Given the description of an element on the screen output the (x, y) to click on. 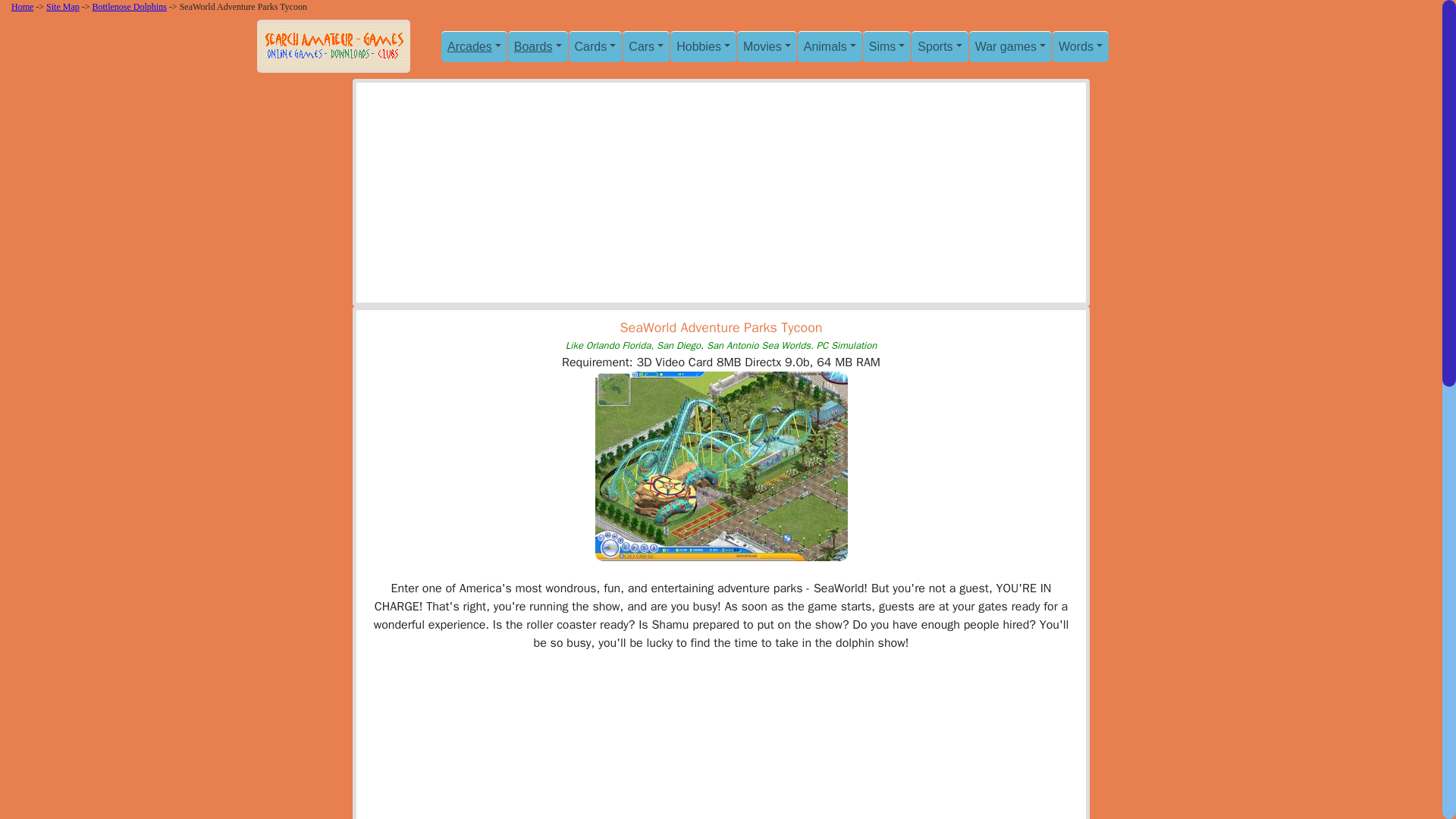
Boards (537, 45)
Arcades (473, 45)
Home (22, 6)
Bottlenose Dolphins (130, 6)
YouTube video player (721, 744)
Cards (596, 45)
Site Map (63, 6)
